Given the description of an element on the screen output the (x, y) to click on. 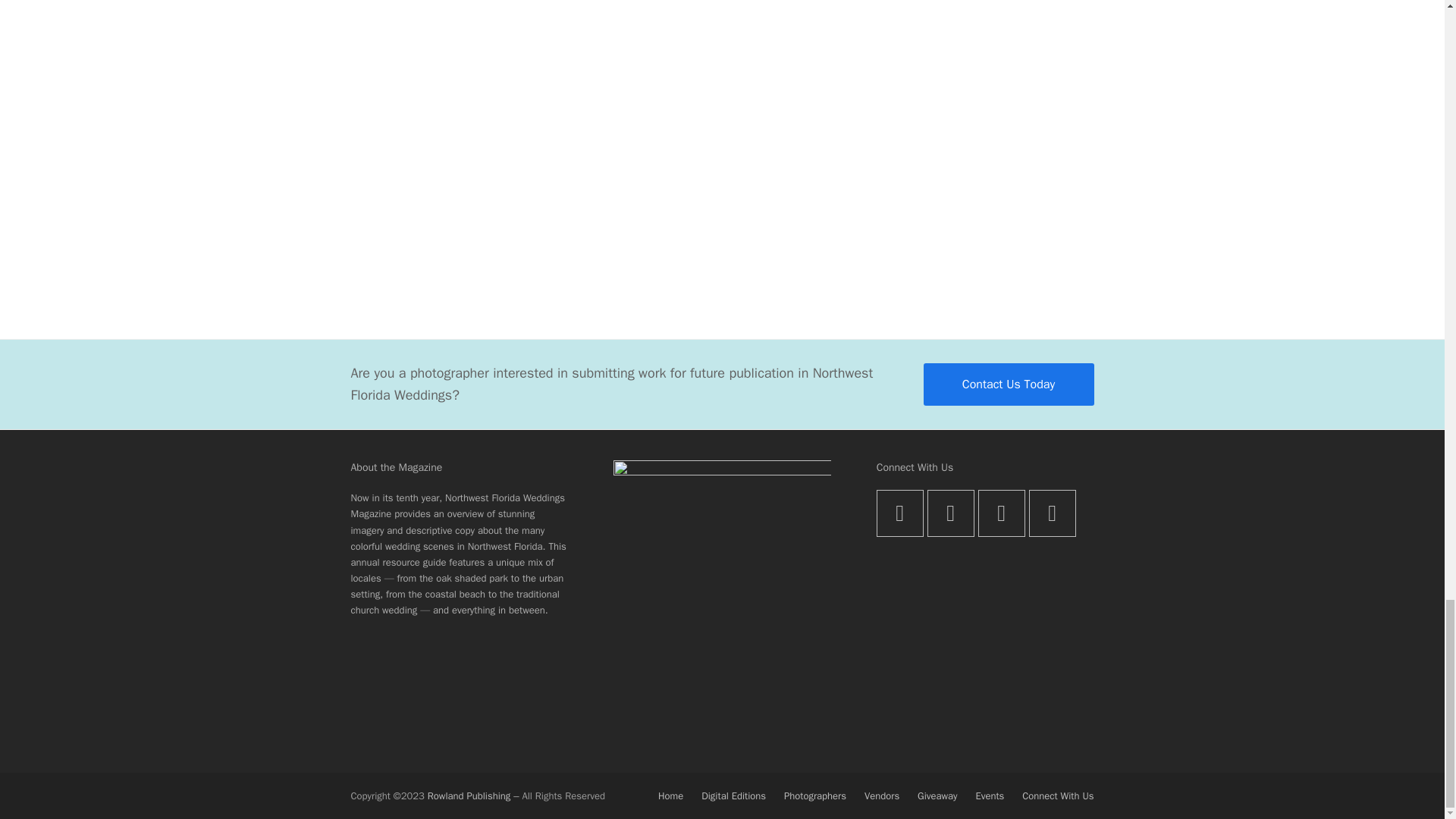
Pinterest (1052, 513)
Facebook (950, 513)
Twitter (899, 513)
Instagram (1001, 513)
